Given the description of an element on the screen output the (x, y) to click on. 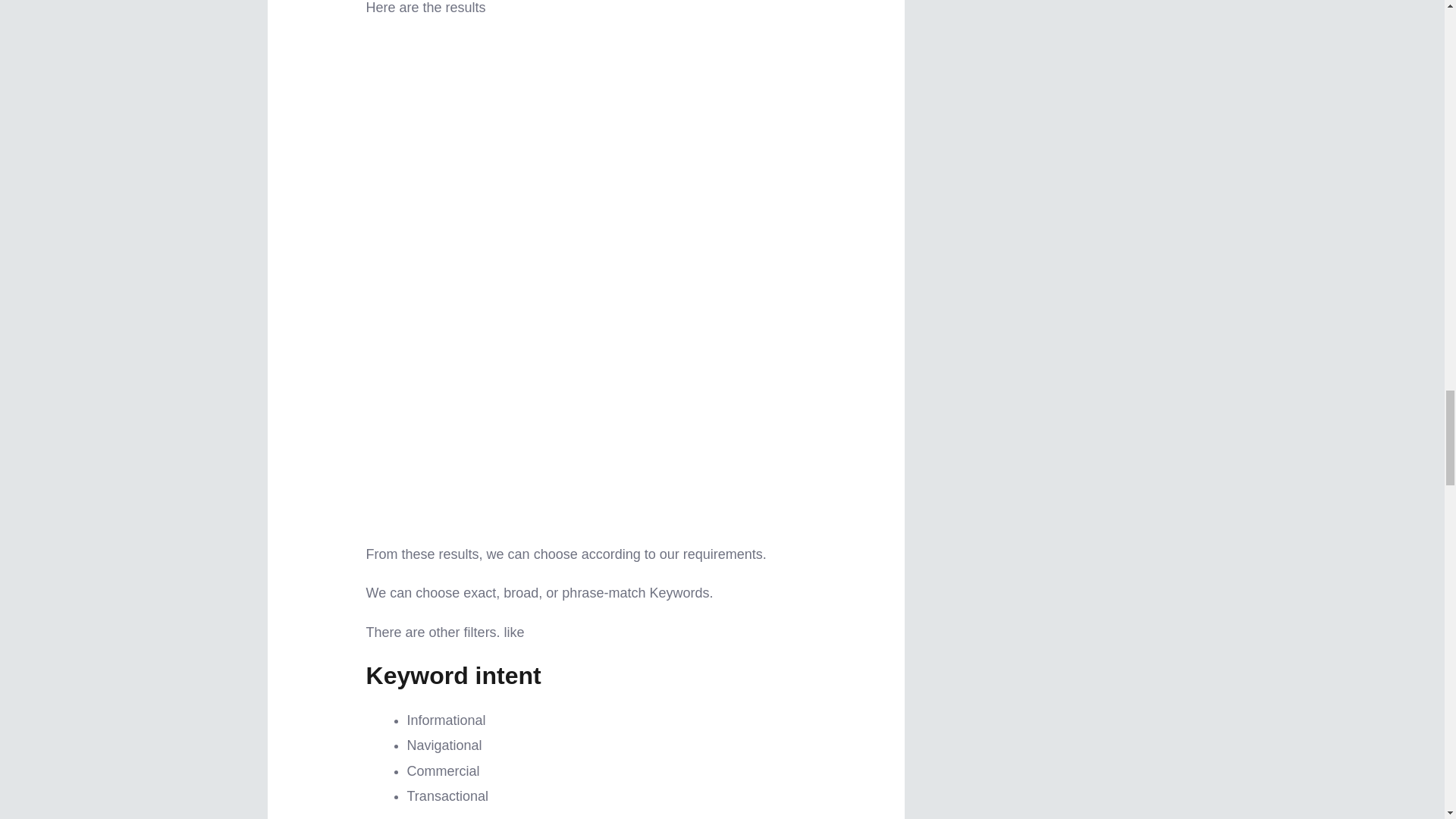
Search Box of Keyword magic tool (586, 164)
Key Word Magic Tool result page (586, 409)
